Given the description of an element on the screen output the (x, y) to click on. 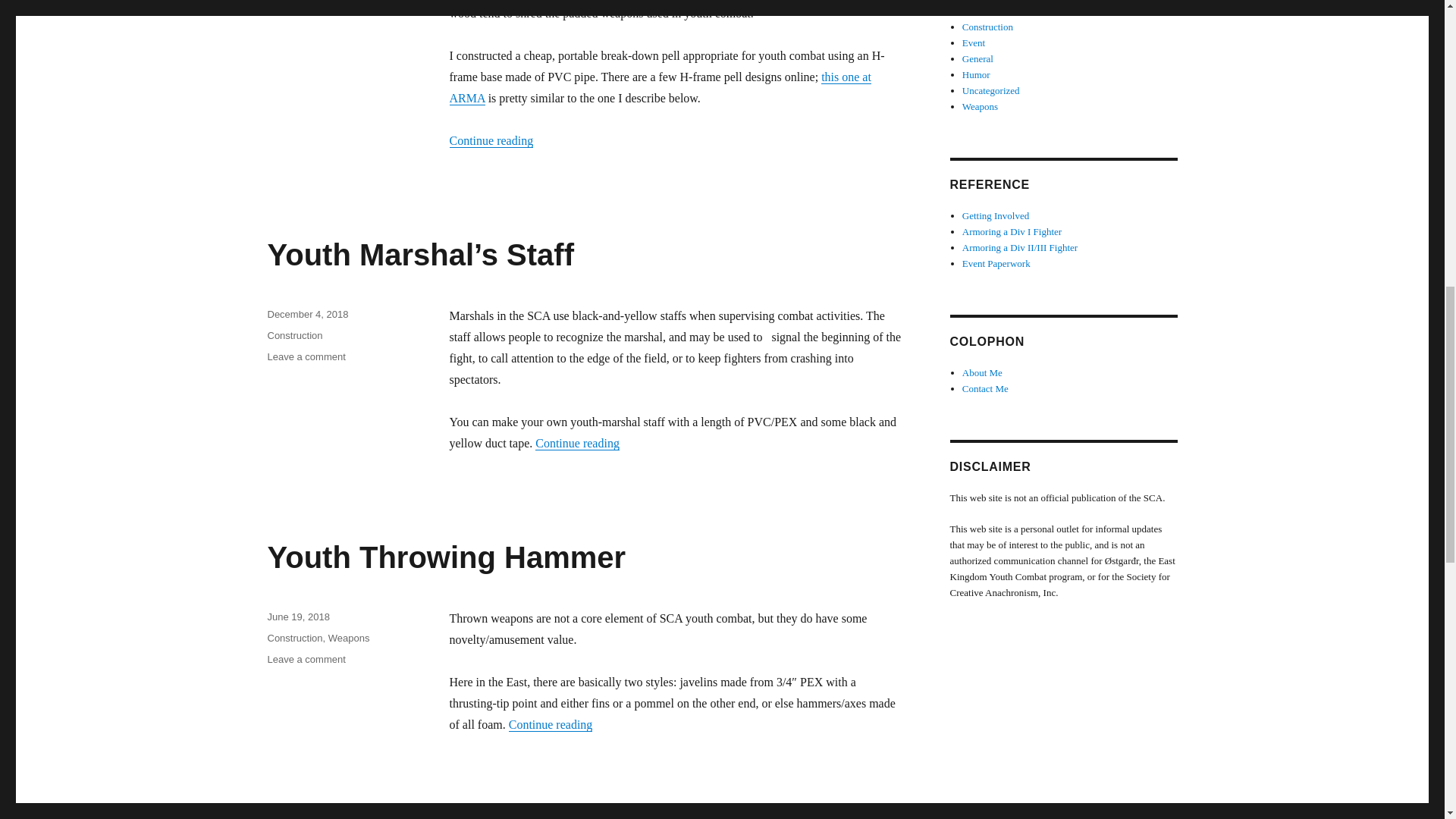
Construction (293, 637)
Construction (305, 659)
this one at ARMA (293, 335)
June 19, 2018 (659, 87)
Youth Throwing Hammer (297, 616)
Weapons (446, 557)
December 4, 2018 (349, 637)
